Given the description of an element on the screen output the (x, y) to click on. 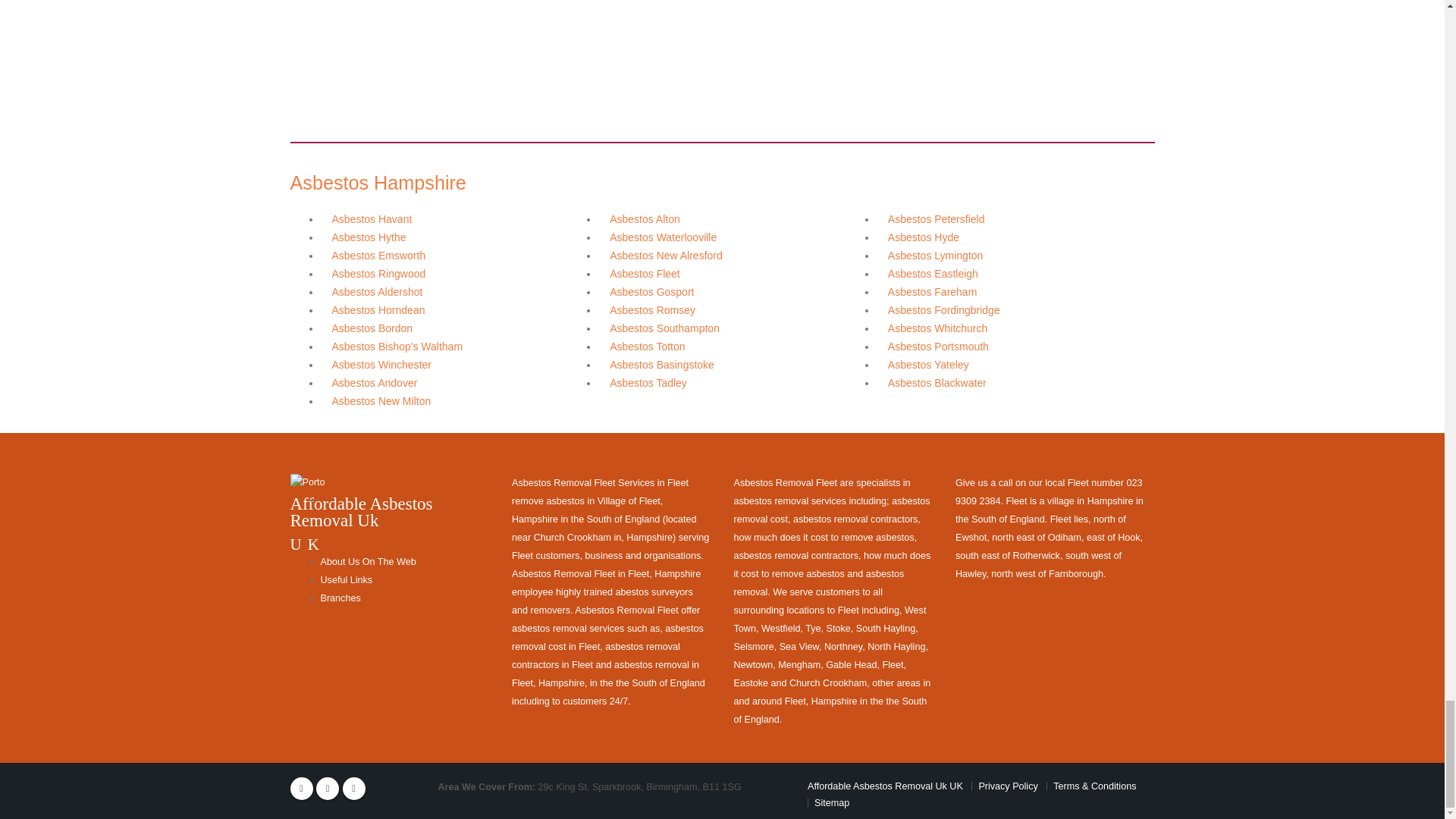
Twitter (327, 788)
Linkedin (353, 788)
Facebook (301, 788)
